Given the description of an element on the screen output the (x, y) to click on. 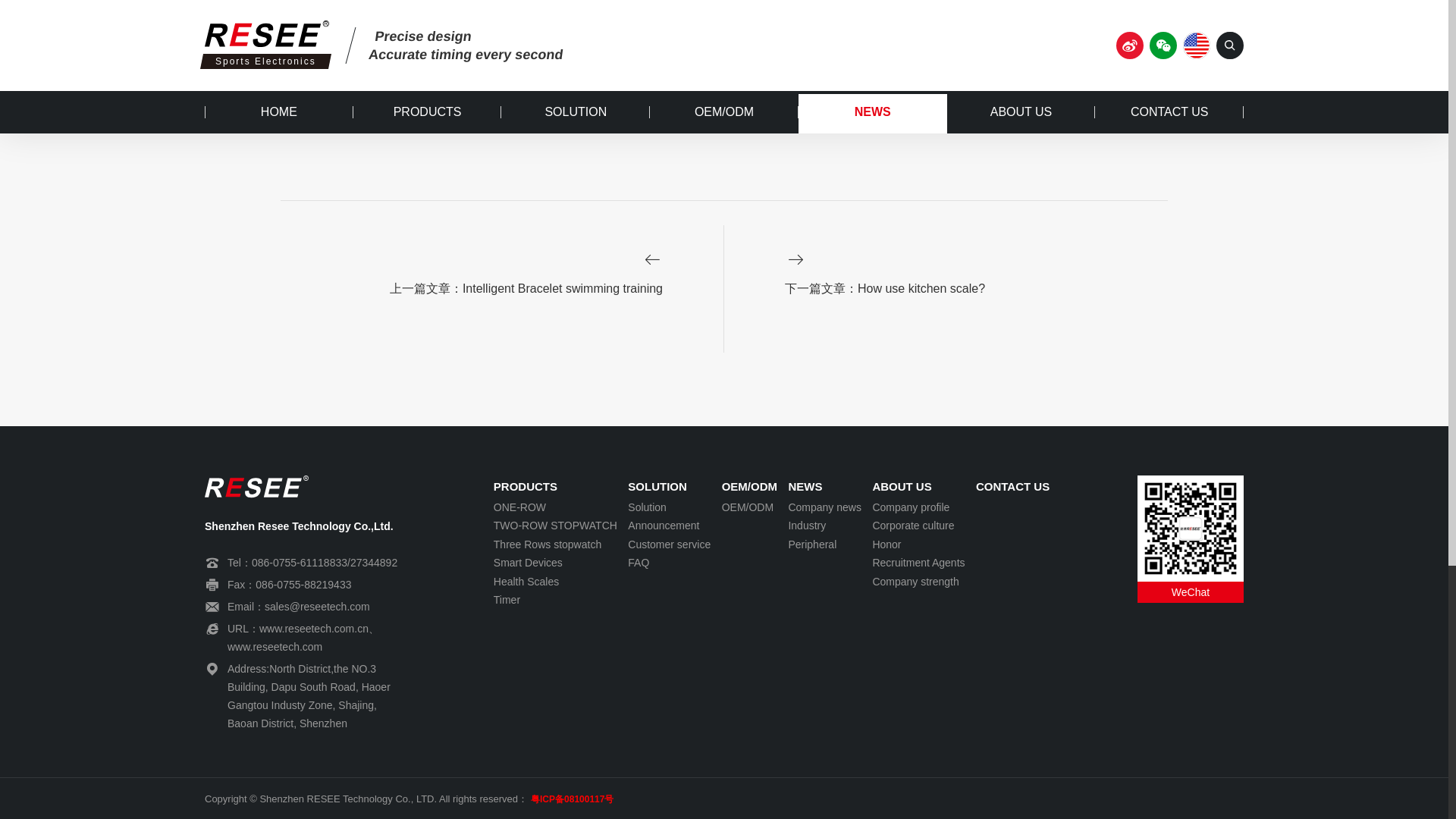
Three Rows stopwatch (555, 544)
PRODUCTS (555, 486)
ONE-ROW (555, 506)
TWO-ROW STOPWATCH (555, 525)
Smart Devices (555, 562)
